Given the description of an element on the screen output the (x, y) to click on. 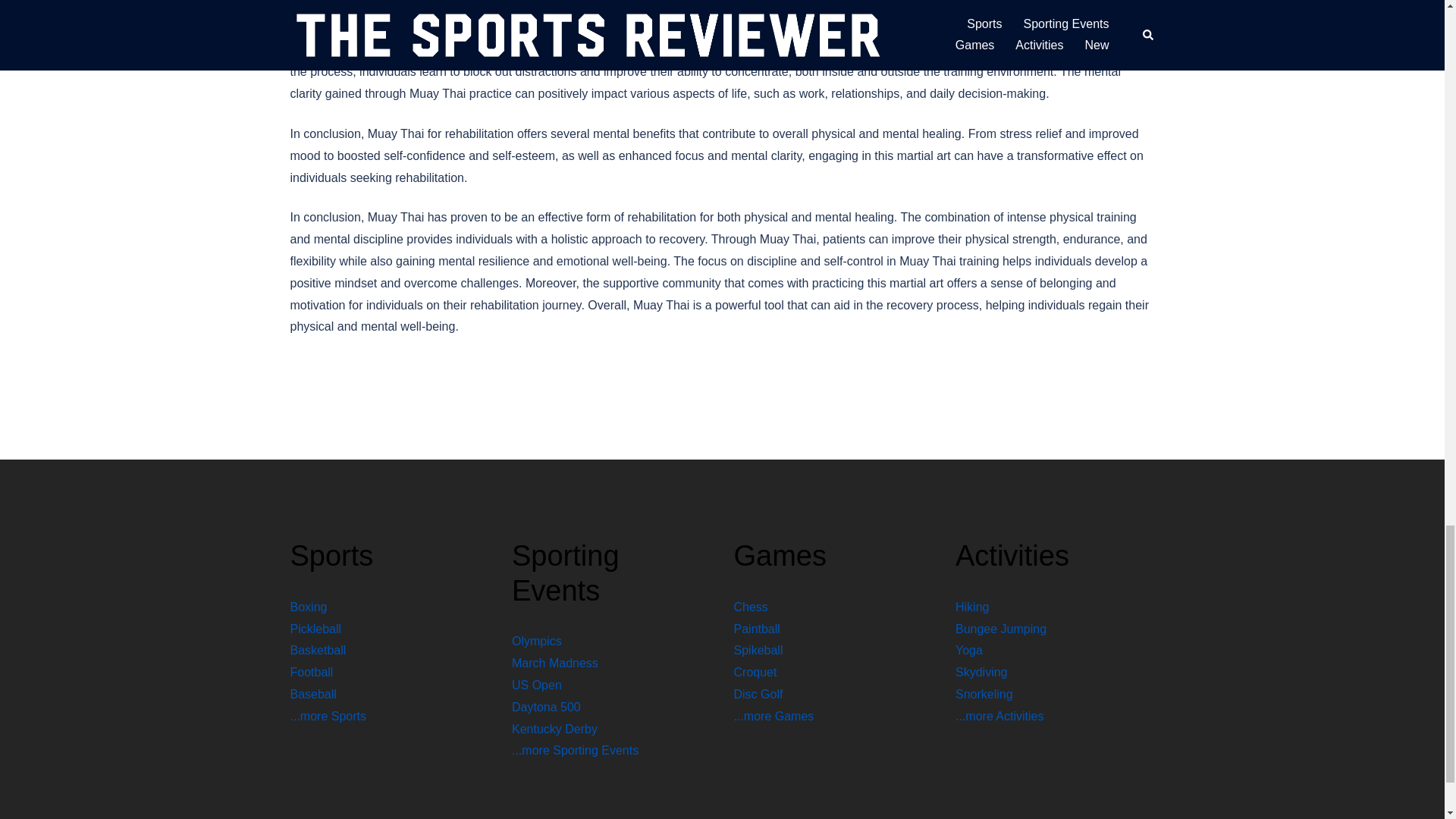
Bungee Jumping (1000, 628)
Boxing (307, 606)
Paintball (756, 628)
Snorkeling (984, 694)
Yoga (968, 649)
Disc Golf (758, 694)
Daytona 500 (546, 707)
...more Sports (327, 716)
...more Sporting Events (575, 749)
March Madness (555, 662)
Kentucky Derby (554, 728)
...more Games (773, 716)
...more Activities (999, 716)
Olympics (537, 640)
Skydiving (981, 671)
